Given the description of an element on the screen output the (x, y) to click on. 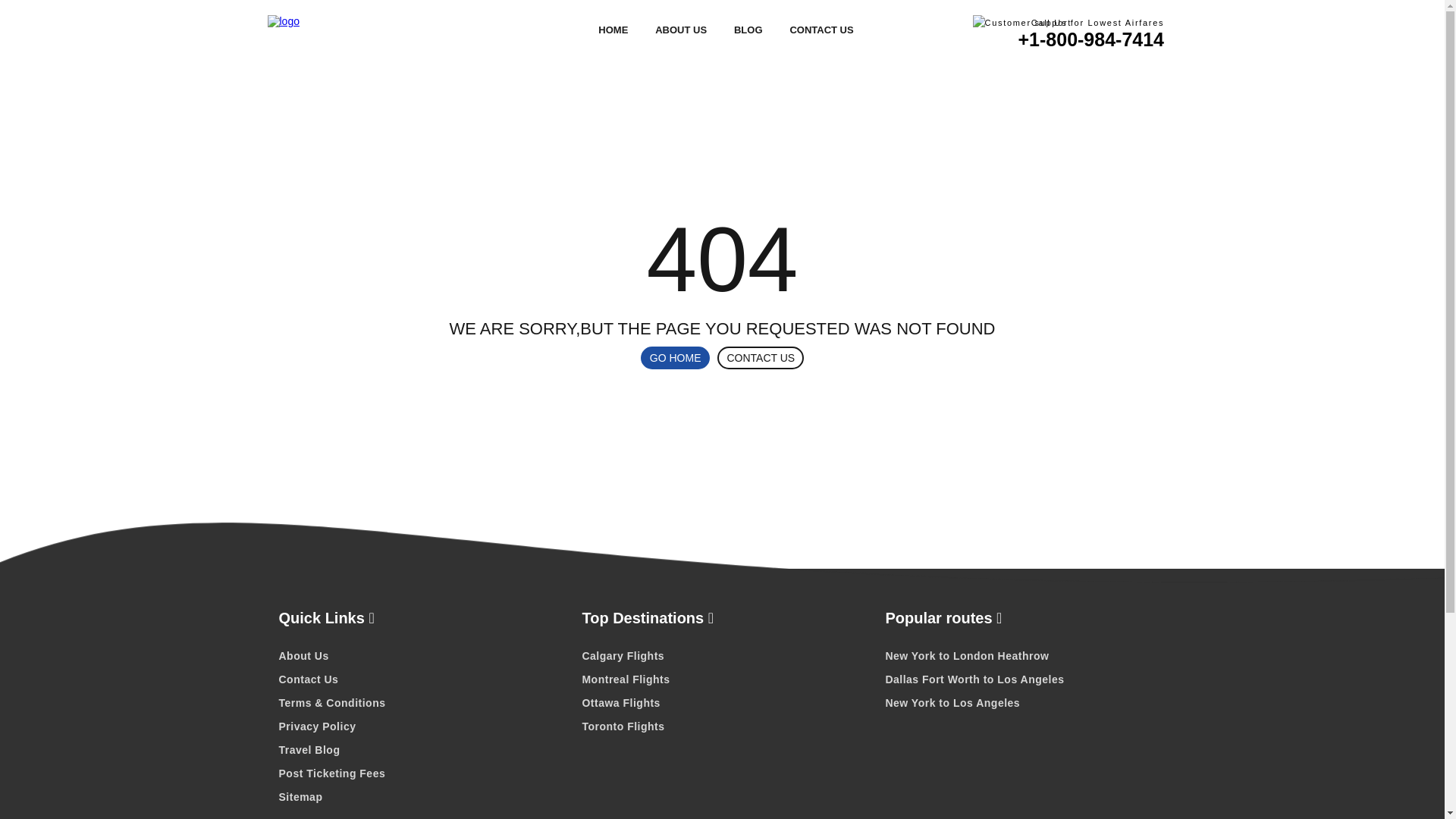
Calgary Flights (720, 655)
Post Ticketing Fees (419, 773)
Contact Us (419, 679)
New York to Los Angeles (1025, 702)
HOME (613, 30)
Montreal Flights (720, 679)
GO HOME (675, 357)
Ottawa Flights (720, 702)
Toronto Flights (720, 725)
Dallas Fort Worth to Los Angeles (1025, 679)
About Us (419, 655)
ABOUT US (681, 30)
Travel Blog (419, 749)
CONTACT US (820, 30)
CONTACT US (760, 357)
